Given the description of an element on the screen output the (x, y) to click on. 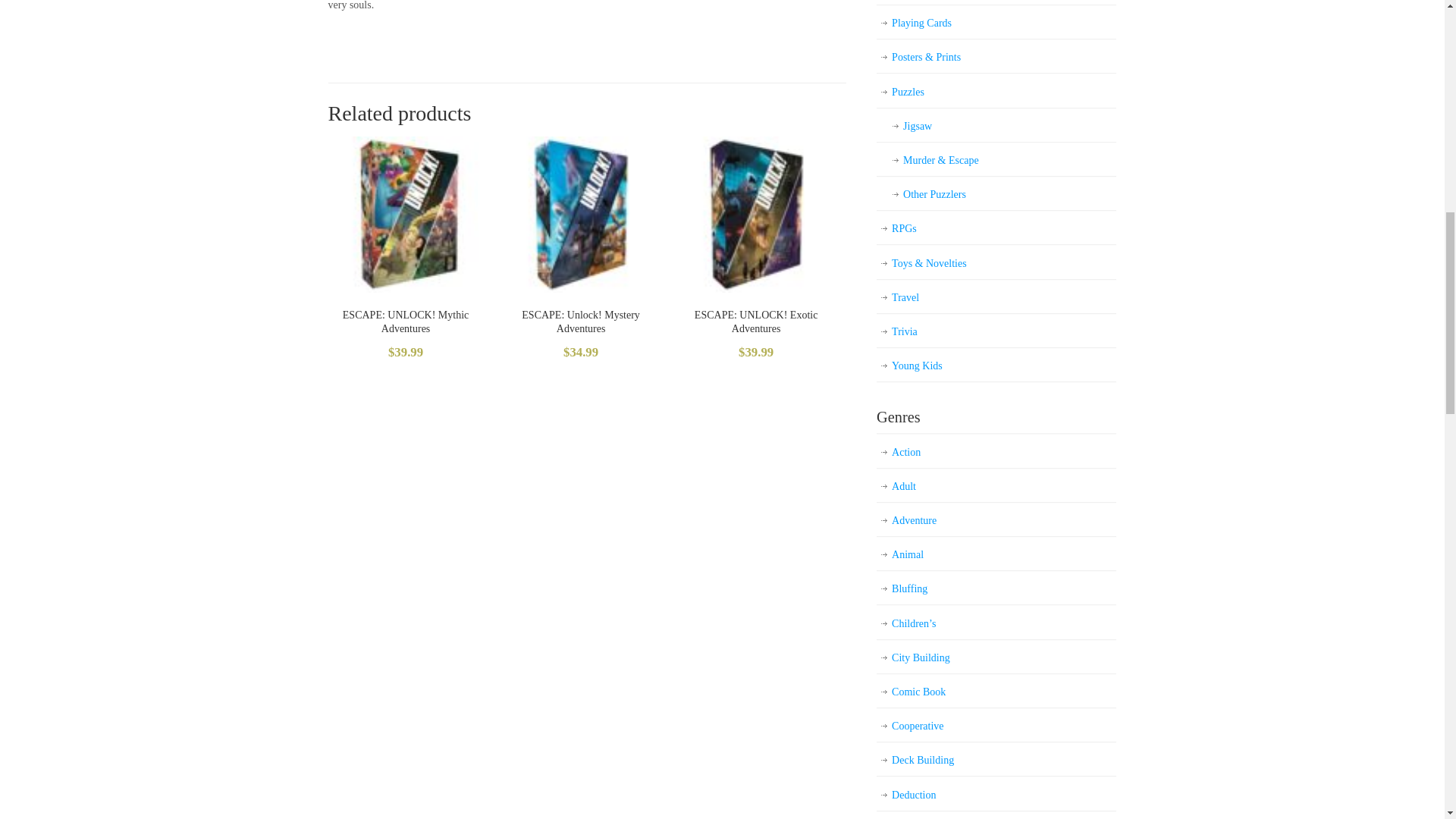
Playing Cards (996, 22)
Jigsaw (996, 125)
Young Kids (996, 365)
Party Games (996, 2)
Trivia (996, 331)
Travel (996, 297)
Other Puzzlers (996, 194)
Puzzles (996, 91)
RPGs (996, 228)
